Given the description of an element on the screen output the (x, y) to click on. 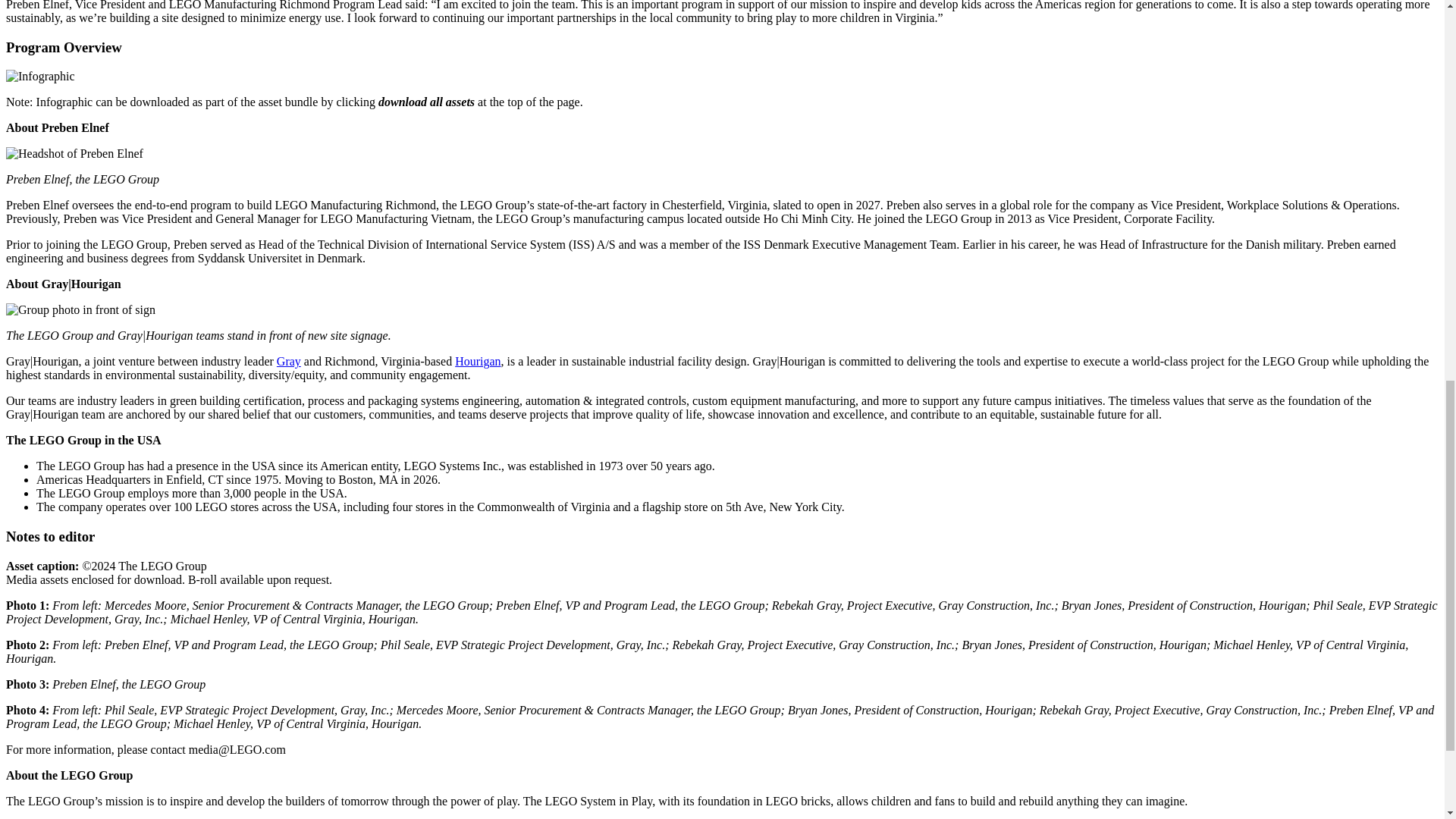
Hourigan (477, 360)
Gray (288, 360)
